Given the description of an element on the screen output the (x, y) to click on. 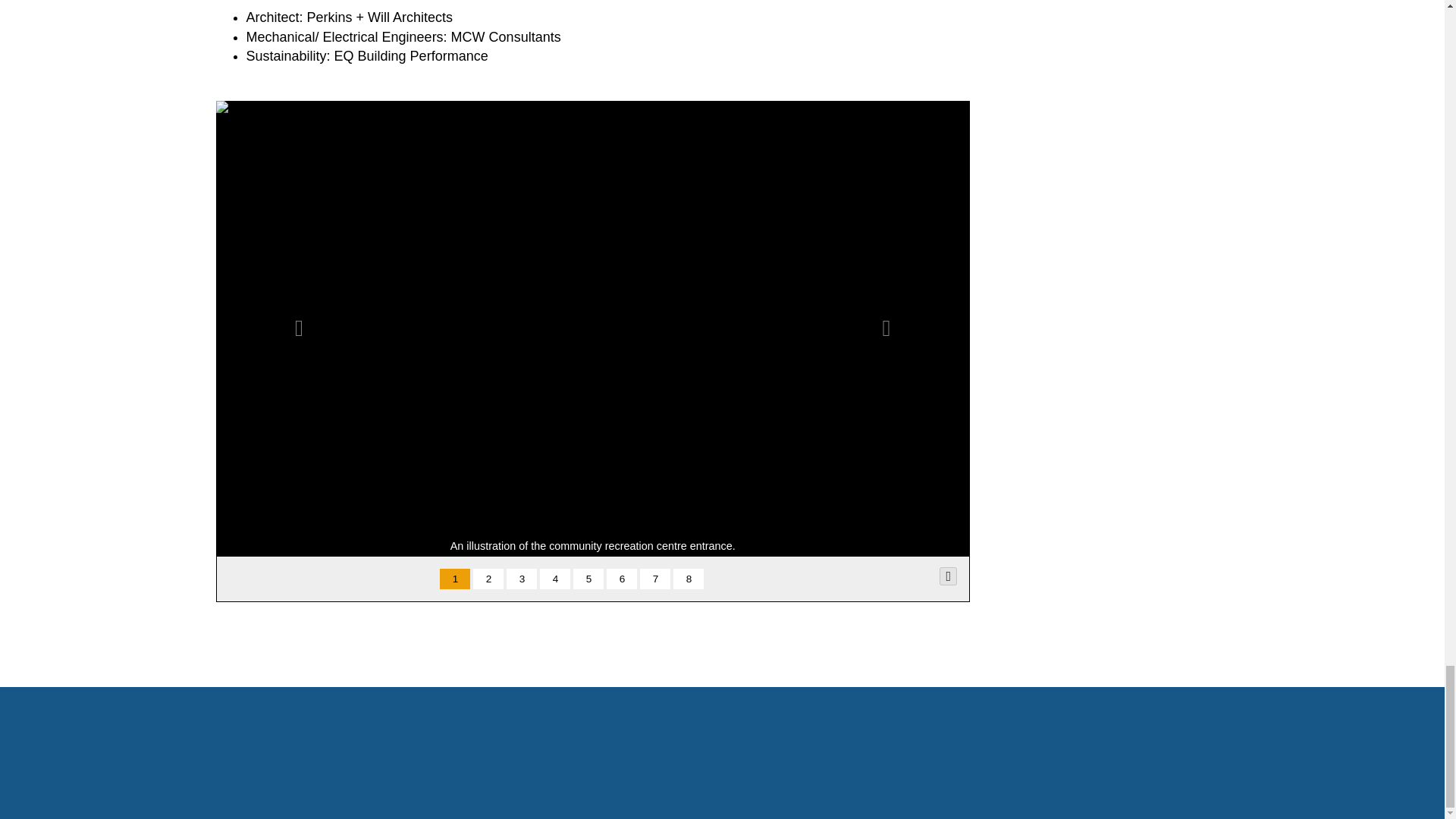
Next Slide (521, 578)
Previous Slide (885, 328)
